Given the description of an element on the screen output the (x, y) to click on. 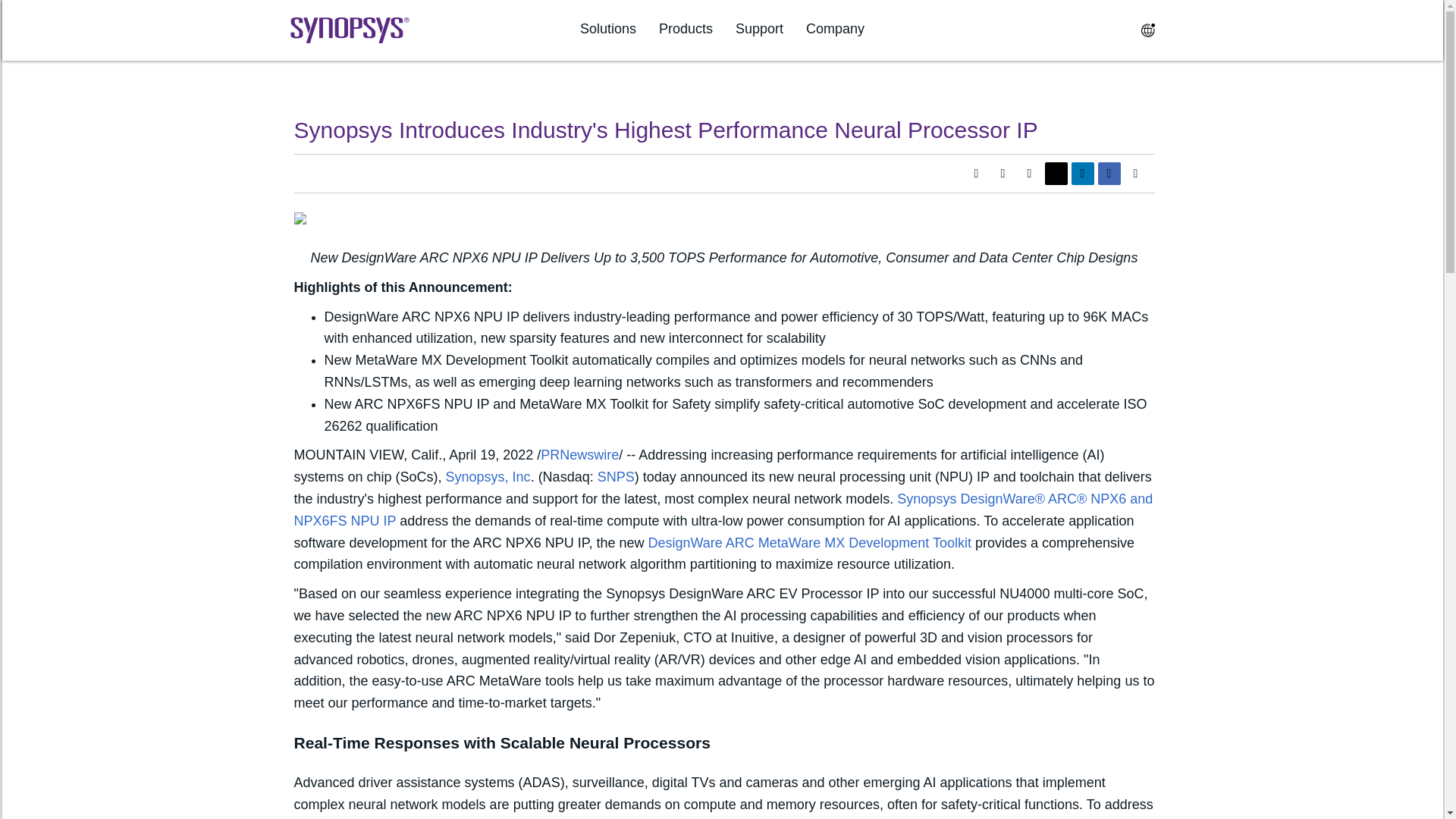
Linkedin Share (1081, 173)
rss (1002, 173)
pdf (975, 173)
print (1029, 173)
Support (759, 28)
Solutions (607, 28)
Twitter Share (1056, 173)
Products (686, 28)
email (1135, 173)
Facebook Share (1109, 173)
